Given the description of an element on the screen output the (x, y) to click on. 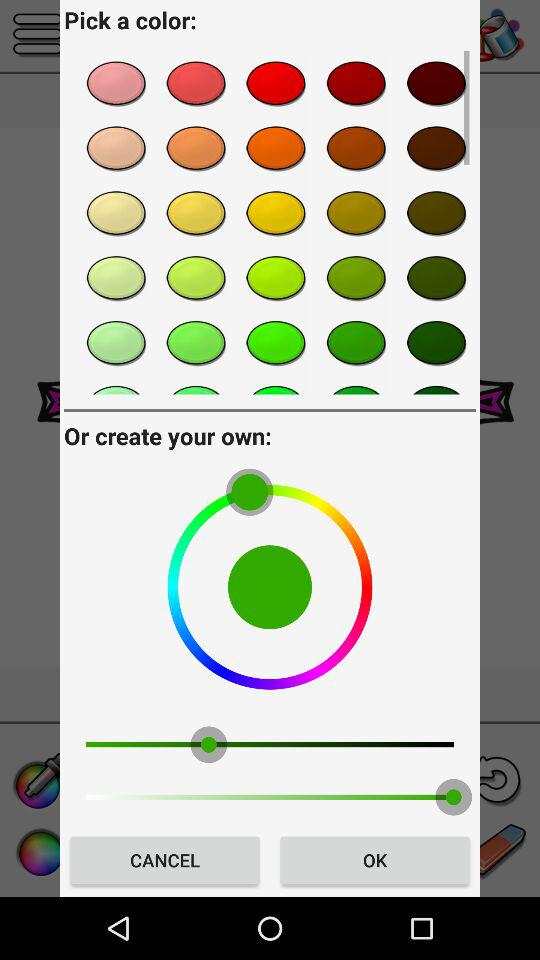
turn off cancel icon (164, 859)
